Given the description of an element on the screen output the (x, y) to click on. 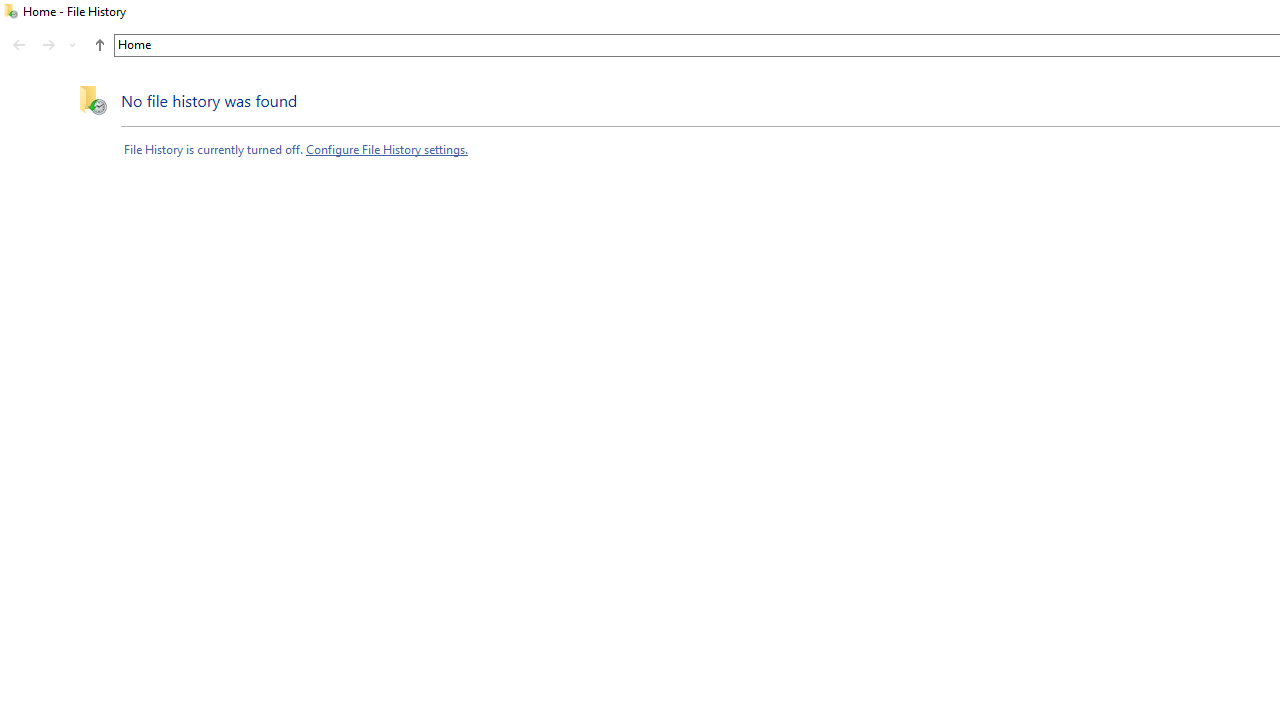
Recent locations (71, 44)
UpButtonToolbar (99, 44)
Up one level (Alt + Up Arrow) (99, 44)
System (10, 11)
Navigation buttons (45, 45)
System (10, 11)
